Given the description of an element on the screen output the (x, y) to click on. 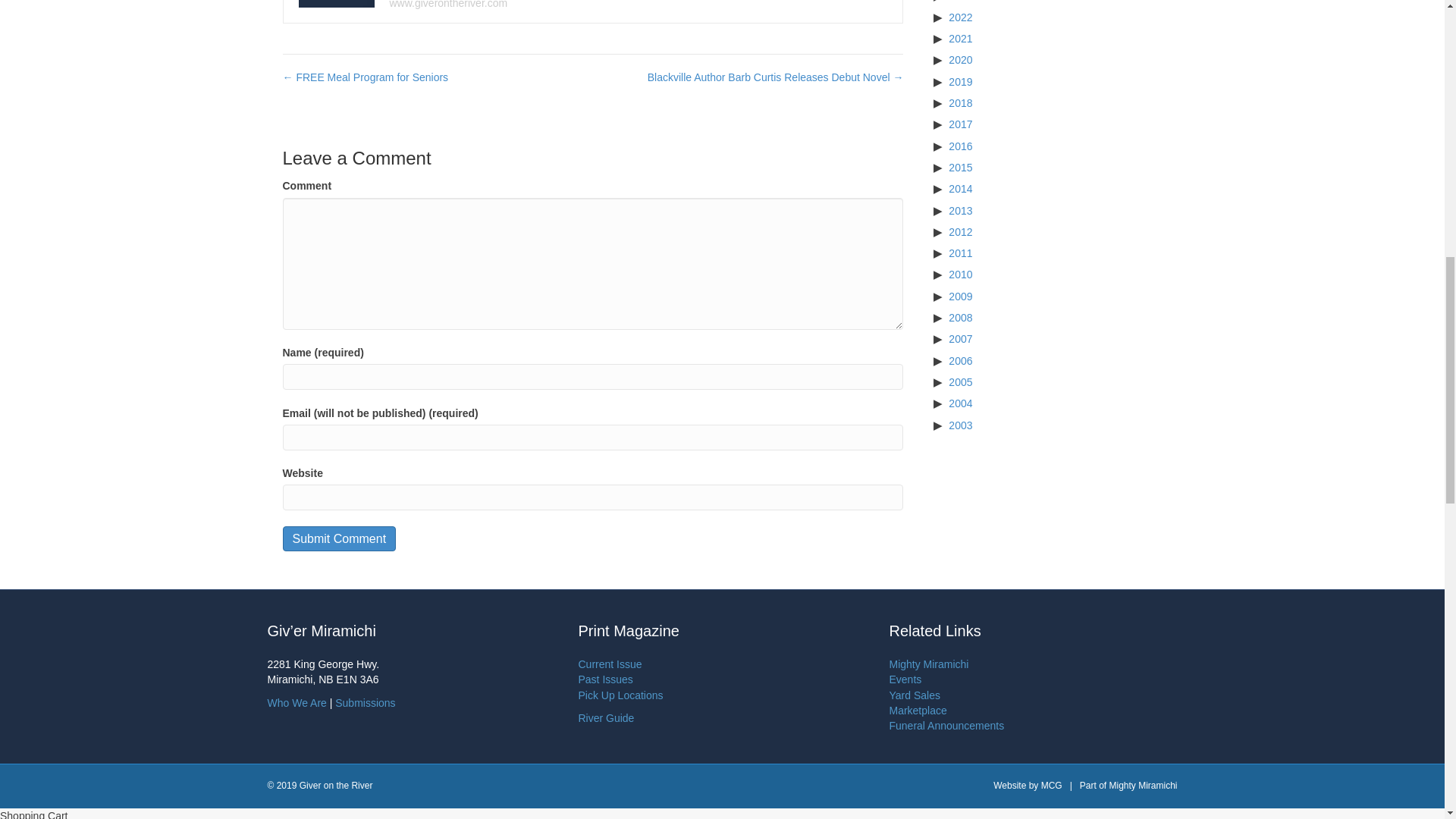
Submit Comment (339, 538)
